Given the description of an element on the screen output the (x, y) to click on. 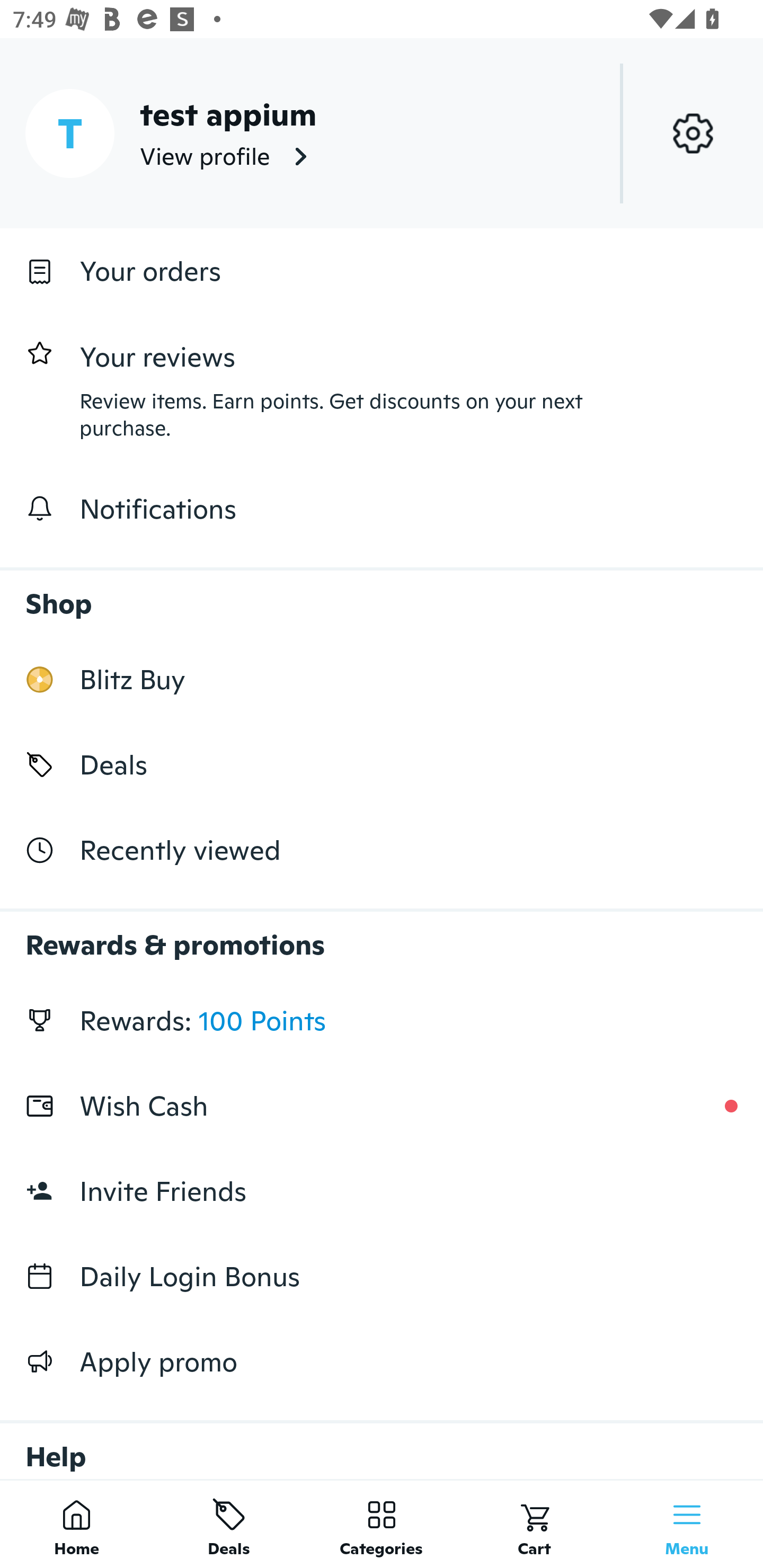
T test appium View profile (381, 132)
Your orders (381, 270)
Notifications (381, 508)
Shop (381, 593)
Blitz Buy (381, 679)
Deals (381, 764)
Recently viewed (381, 850)
Rewards & promotions (381, 935)
Rewards: 100 Points (381, 1020)
Wish Cash (381, 1106)
Invite Friends (381, 1190)
Daily Login Bonus (381, 1277)
Apply promo (381, 1361)
Help (381, 1441)
Home (76, 1523)
Deals (228, 1523)
Categories (381, 1523)
Cart (533, 1523)
Menu (686, 1523)
